Given the description of an element on the screen output the (x, y) to click on. 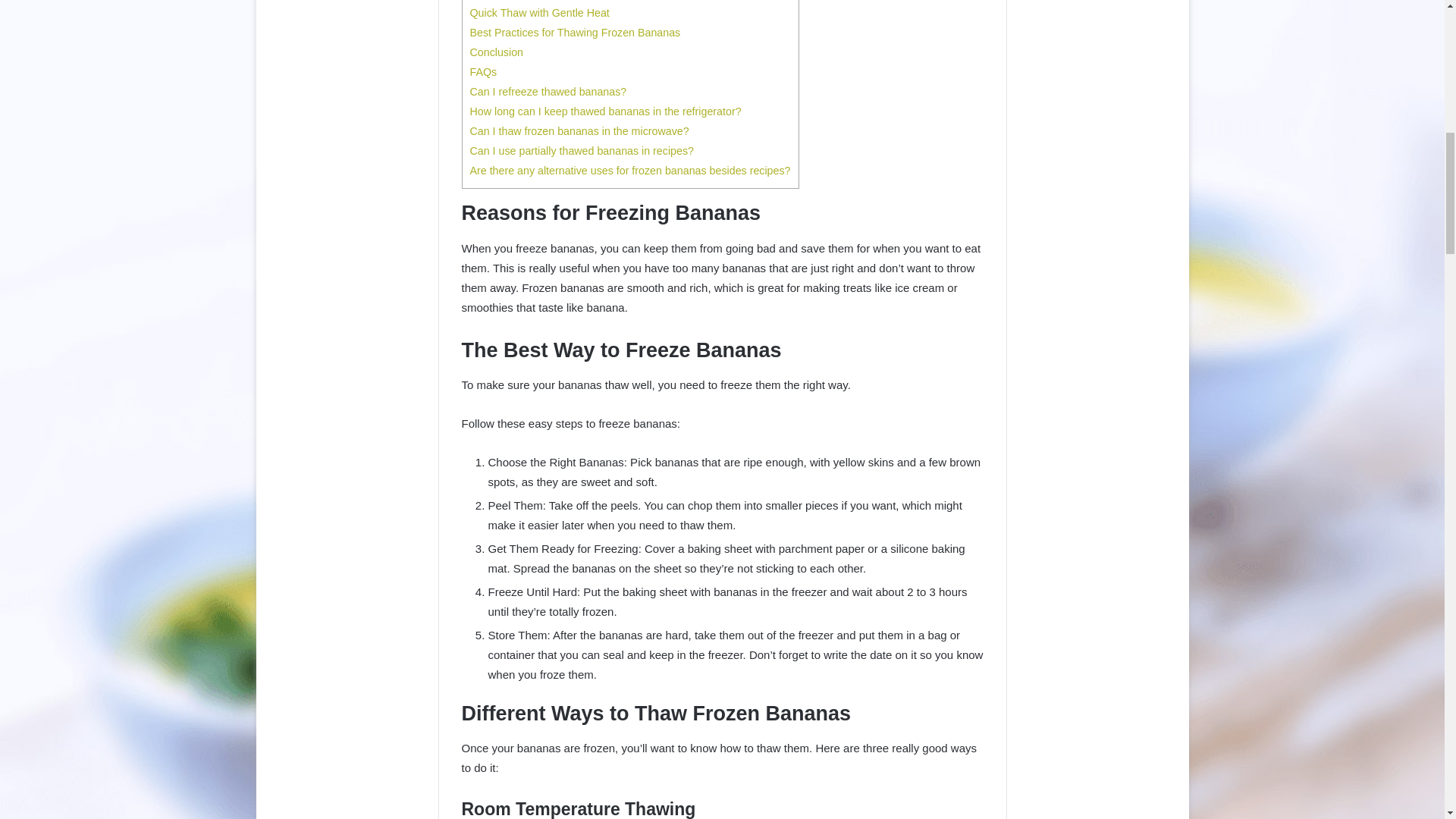
Best Practices for Thawing Frozen Bananas (575, 32)
Quick Thaw with Gentle Heat (540, 12)
Conclusion (497, 51)
FAQs (483, 71)
